Given the description of an element on the screen output the (x, y) to click on. 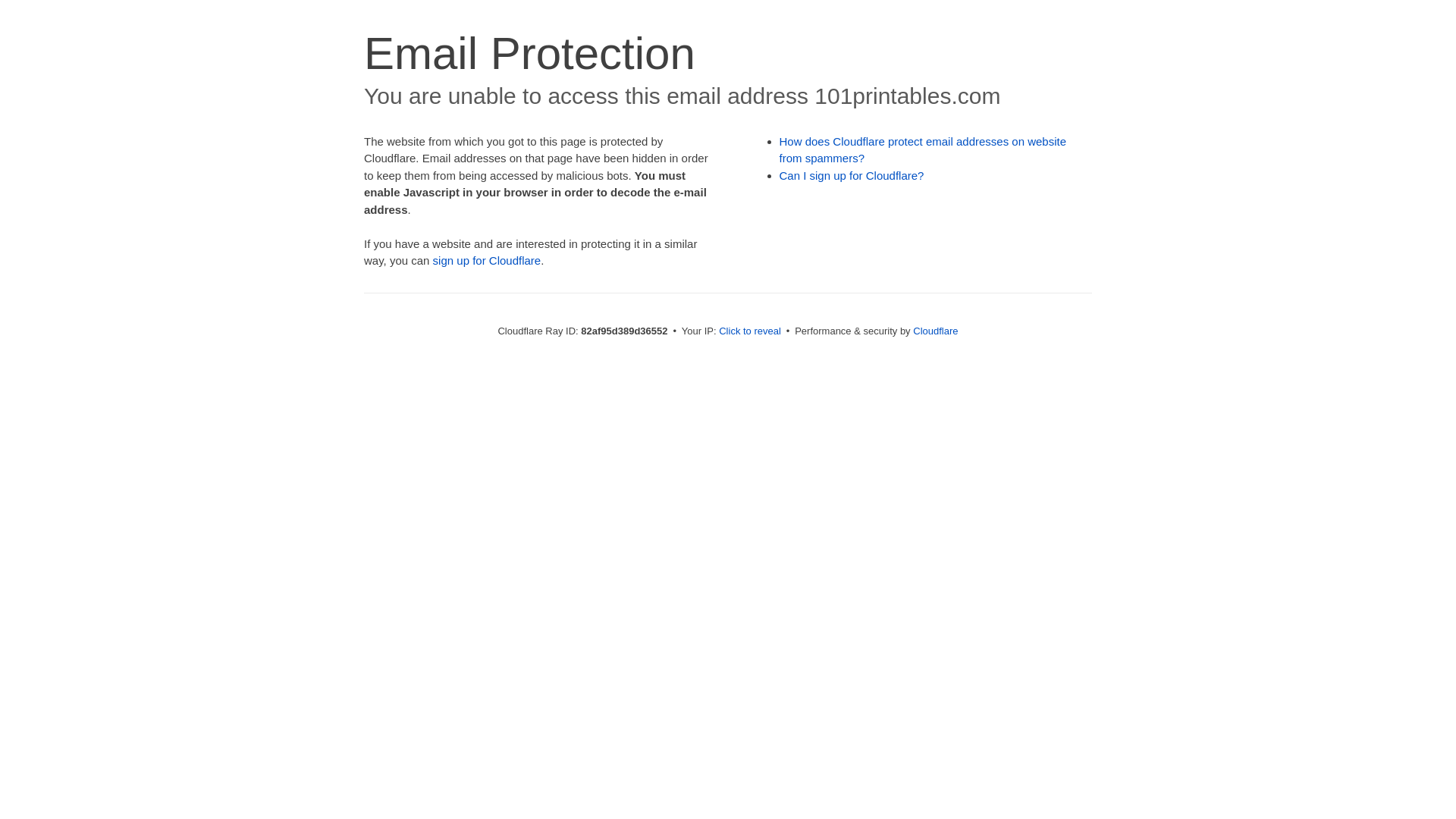
Click to reveal Element type: text (749, 330)
Can I sign up for Cloudflare? Element type: text (851, 175)
Cloudflare Element type: text (935, 330)
sign up for Cloudflare Element type: text (487, 260)
